Given the description of an element on the screen output the (x, y) to click on. 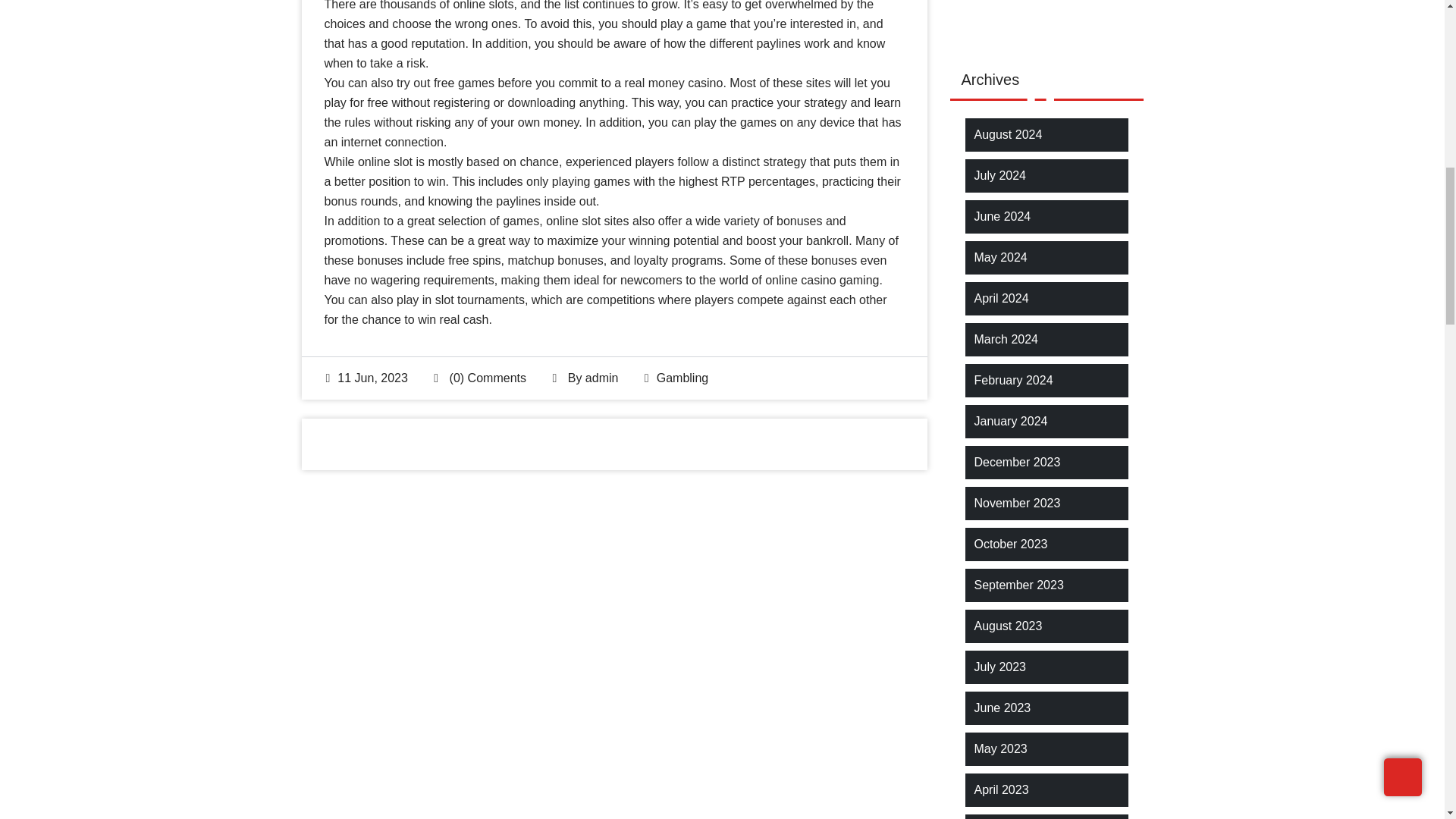
March 2024 (1006, 339)
Gambling (681, 377)
May 2024 (1000, 257)
November 2023 (1016, 503)
February 2024 (1013, 380)
December 2023 (1016, 462)
July 2023 (1000, 667)
August 2024 (1008, 135)
April 2024 (1000, 298)
admin (601, 377)
